Given the description of an element on the screen output the (x, y) to click on. 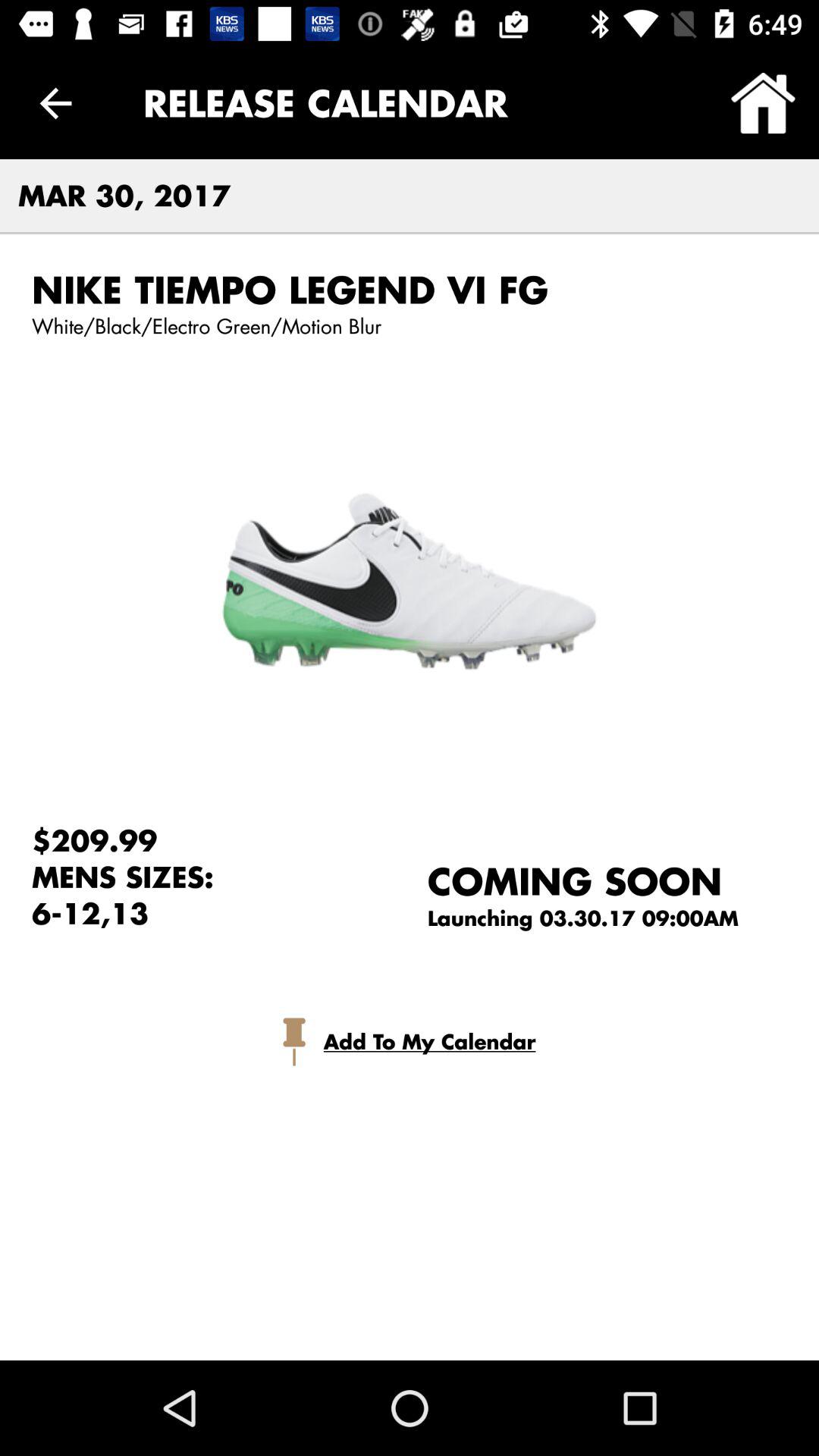
open item at the top right corner (763, 103)
